Given the description of an element on the screen output the (x, y) to click on. 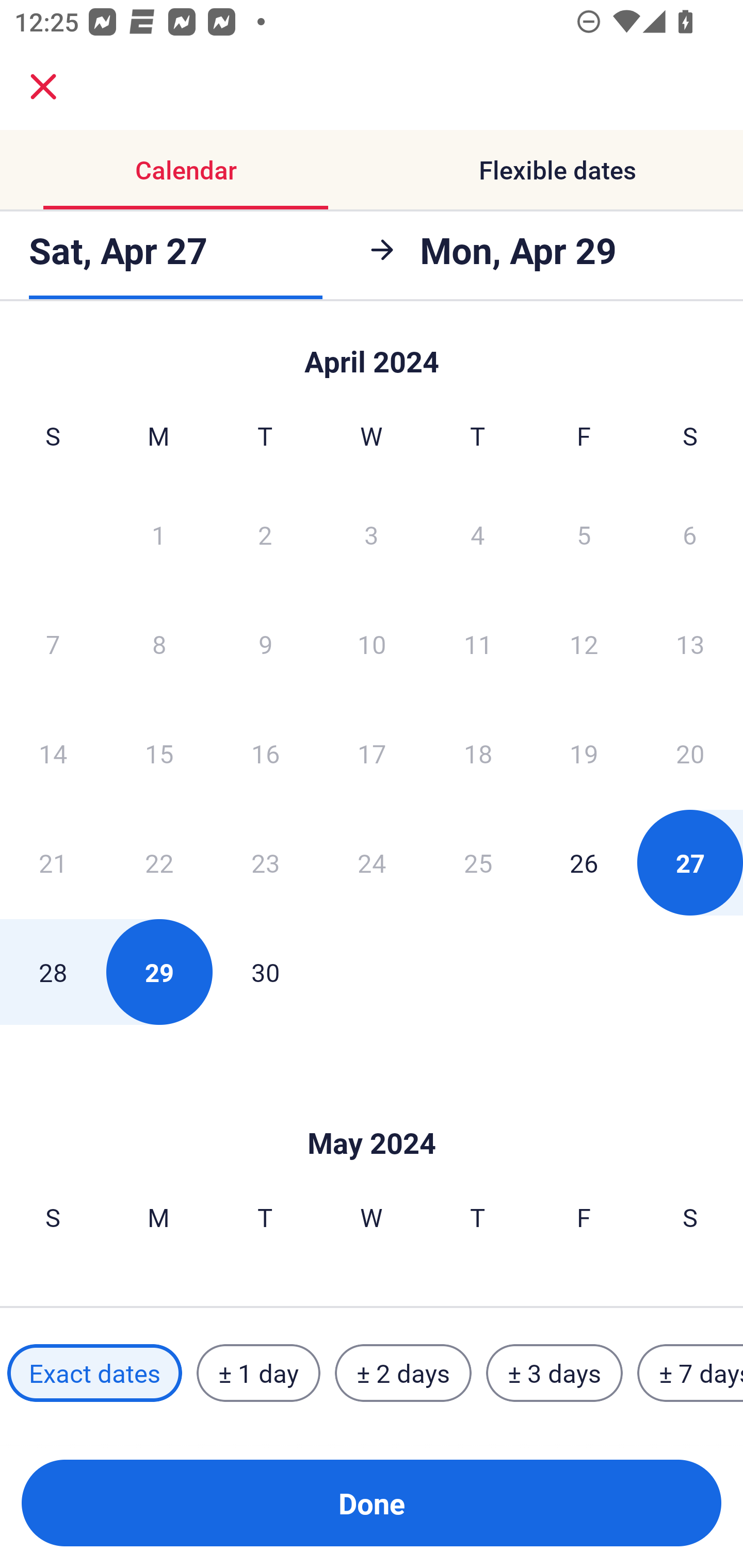
close. (43, 86)
Flexible dates (557, 170)
Skip to Done (371, 352)
1 Monday, April 1, 2024 (158, 534)
2 Tuesday, April 2, 2024 (264, 534)
3 Wednesday, April 3, 2024 (371, 534)
4 Thursday, April 4, 2024 (477, 534)
5 Friday, April 5, 2024 (583, 534)
6 Saturday, April 6, 2024 (689, 534)
7 Sunday, April 7, 2024 (53, 643)
8 Monday, April 8, 2024 (159, 643)
9 Tuesday, April 9, 2024 (265, 643)
10 Wednesday, April 10, 2024 (371, 643)
11 Thursday, April 11, 2024 (477, 643)
12 Friday, April 12, 2024 (584, 643)
13 Saturday, April 13, 2024 (690, 643)
14 Sunday, April 14, 2024 (53, 752)
15 Monday, April 15, 2024 (159, 752)
16 Tuesday, April 16, 2024 (265, 752)
17 Wednesday, April 17, 2024 (371, 752)
18 Thursday, April 18, 2024 (477, 752)
19 Friday, April 19, 2024 (584, 752)
20 Saturday, April 20, 2024 (690, 752)
21 Sunday, April 21, 2024 (53, 862)
22 Monday, April 22, 2024 (159, 862)
23 Tuesday, April 23, 2024 (265, 862)
24 Wednesday, April 24, 2024 (371, 862)
25 Thursday, April 25, 2024 (477, 862)
26 Friday, April 26, 2024 (584, 862)
30 Tuesday, April 30, 2024 (265, 971)
Skip to Done (371, 1112)
Exact dates (94, 1372)
± 1 day (258, 1372)
± 2 days (403, 1372)
± 3 days (553, 1372)
± 7 days (690, 1372)
Done (371, 1502)
